Given the description of an element on the screen output the (x, y) to click on. 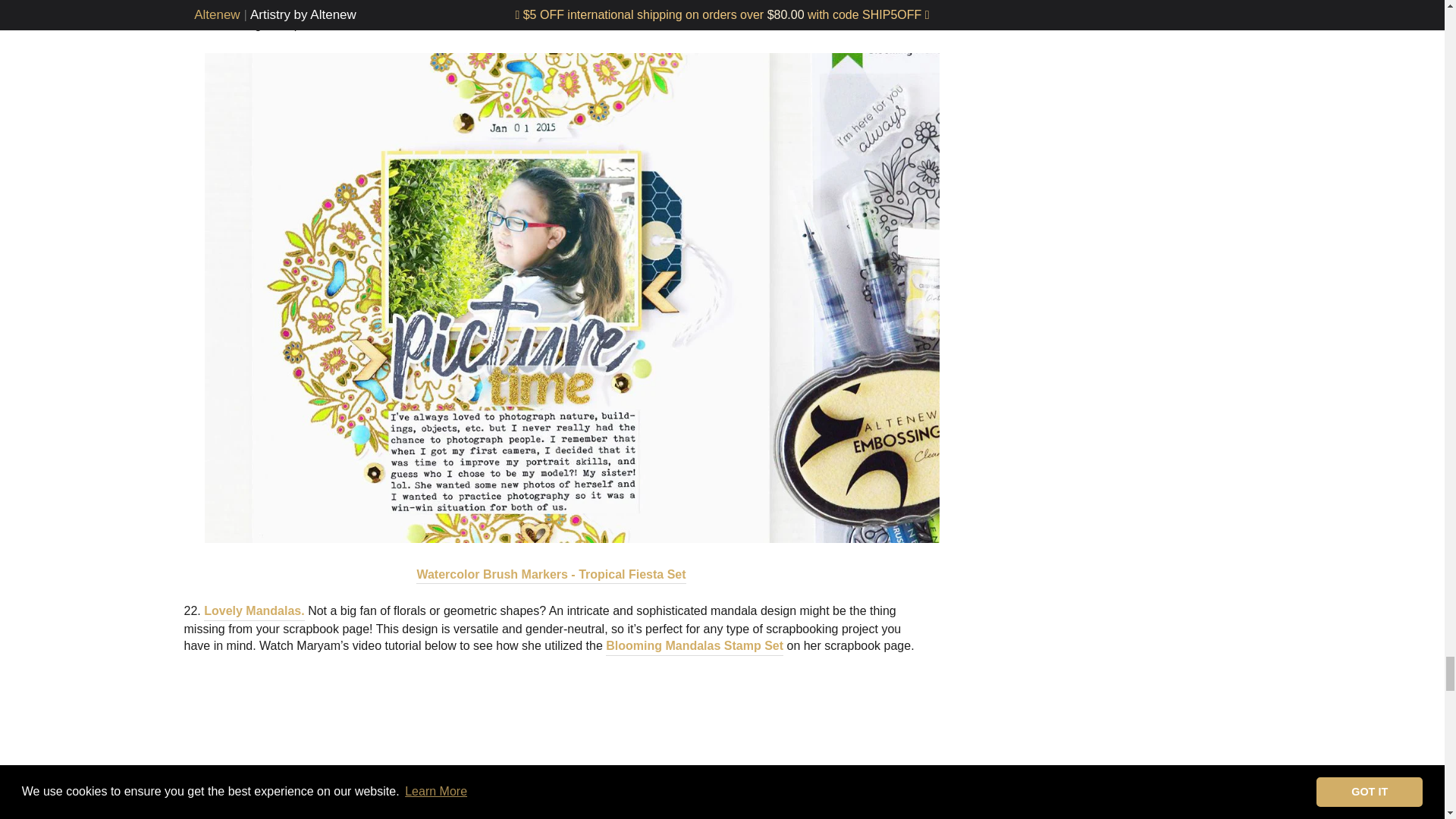
Easy and Relaxing Watercoloring Tutorial (550, 746)
